Given the description of an element on the screen output the (x, y) to click on. 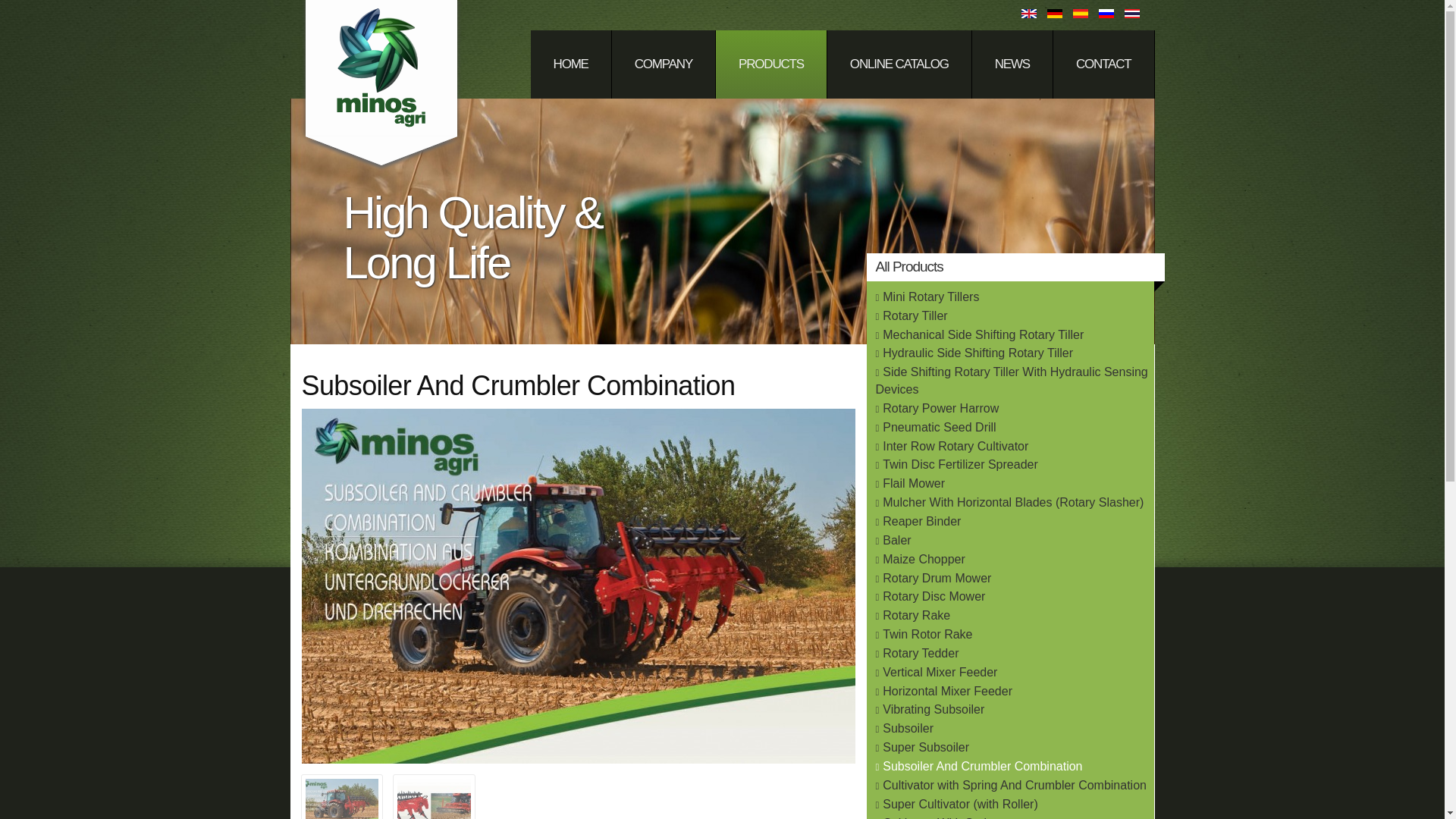
Rotary Power Harrow (940, 408)
Hydraulic Side Shifting Rotary Tiller (977, 352)
Rotary Disc Mower (933, 595)
COMPANY (663, 64)
Rotary Drum Mower (936, 577)
HOME (571, 64)
Twin Rotor Rake (927, 634)
Baler (896, 540)
Side Shifting Rotary Tiller With Hydraulic Sensing Devices (1011, 380)
PRODUCTS (771, 64)
Vertical Mixer Feeder (939, 671)
Horizontal Mixer Feeder (946, 690)
Flail Mower (913, 482)
Rotary Rake (916, 615)
Twin Disc Fertilizer Spreader (960, 463)
